Given the description of an element on the screen output the (x, y) to click on. 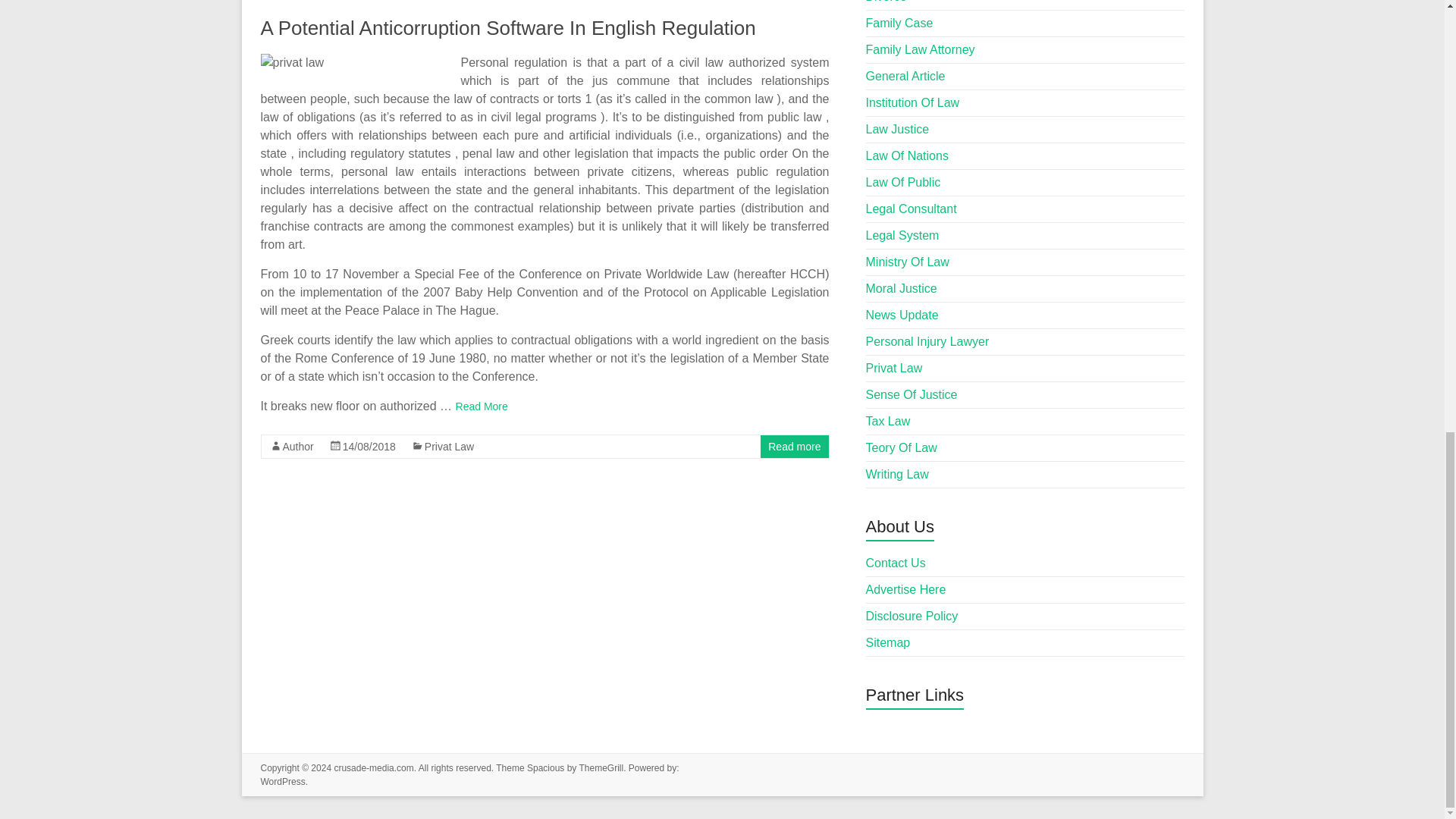
Author (297, 446)
WordPress (282, 781)
14:58 (369, 446)
crusade-media.com (373, 767)
A Potential Anticorruption Software In English Regulation (507, 27)
Read More (481, 406)
A Potential Anticorruption Software In English Regulation (507, 27)
Privat Law (449, 446)
Spacious (545, 767)
